Given the description of an element on the screen output the (x, y) to click on. 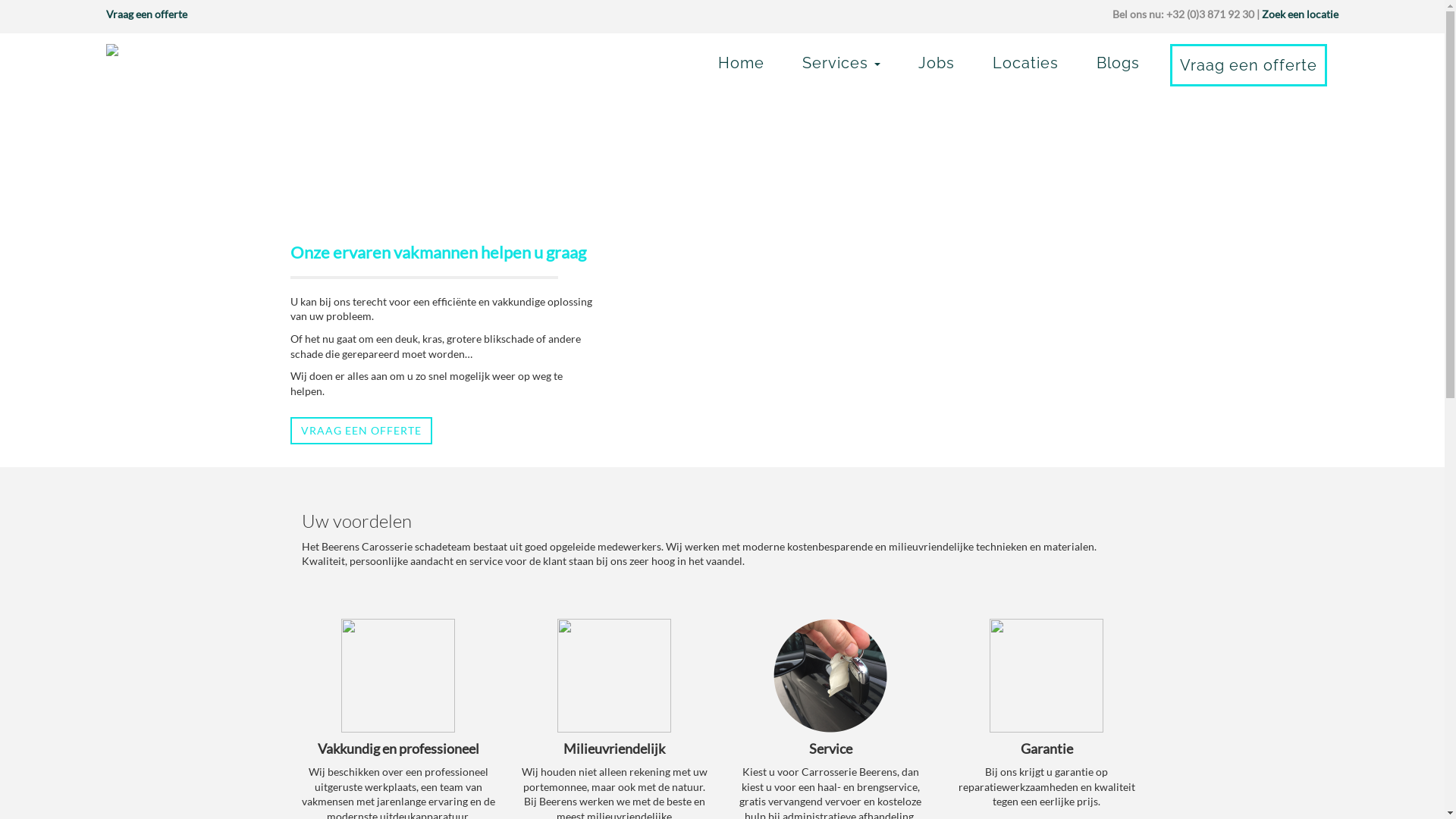
Blogs Element type: text (1117, 62)
Vraag een offerte Element type: text (1248, 64)
Locaties Element type: text (1025, 62)
Services Element type: text (841, 62)
Jobs Element type: text (936, 62)
Home Element type: text (740, 62)
Zoek een locatie Element type: text (1299, 13)
+32 (0)3 871 92 30 Element type: text (1210, 13)
VRAAG EEN OFFERTE Element type: text (360, 430)
